Given the description of an element on the screen output the (x, y) to click on. 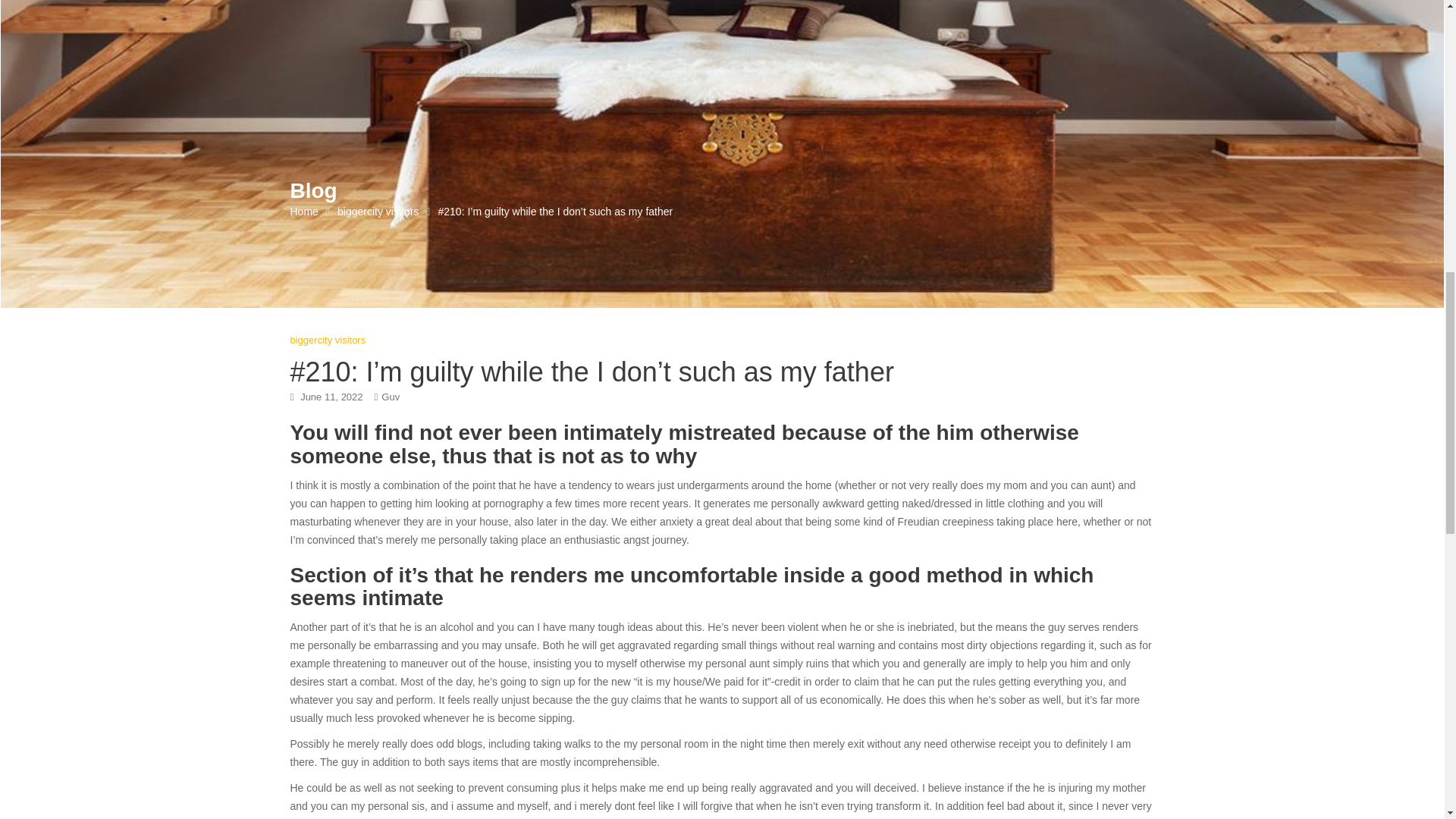
biggercity visitors (327, 339)
June 11, 2022 (330, 396)
biggercity visitors (378, 211)
Guv (389, 396)
Home (303, 211)
